Given the description of an element on the screen output the (x, y) to click on. 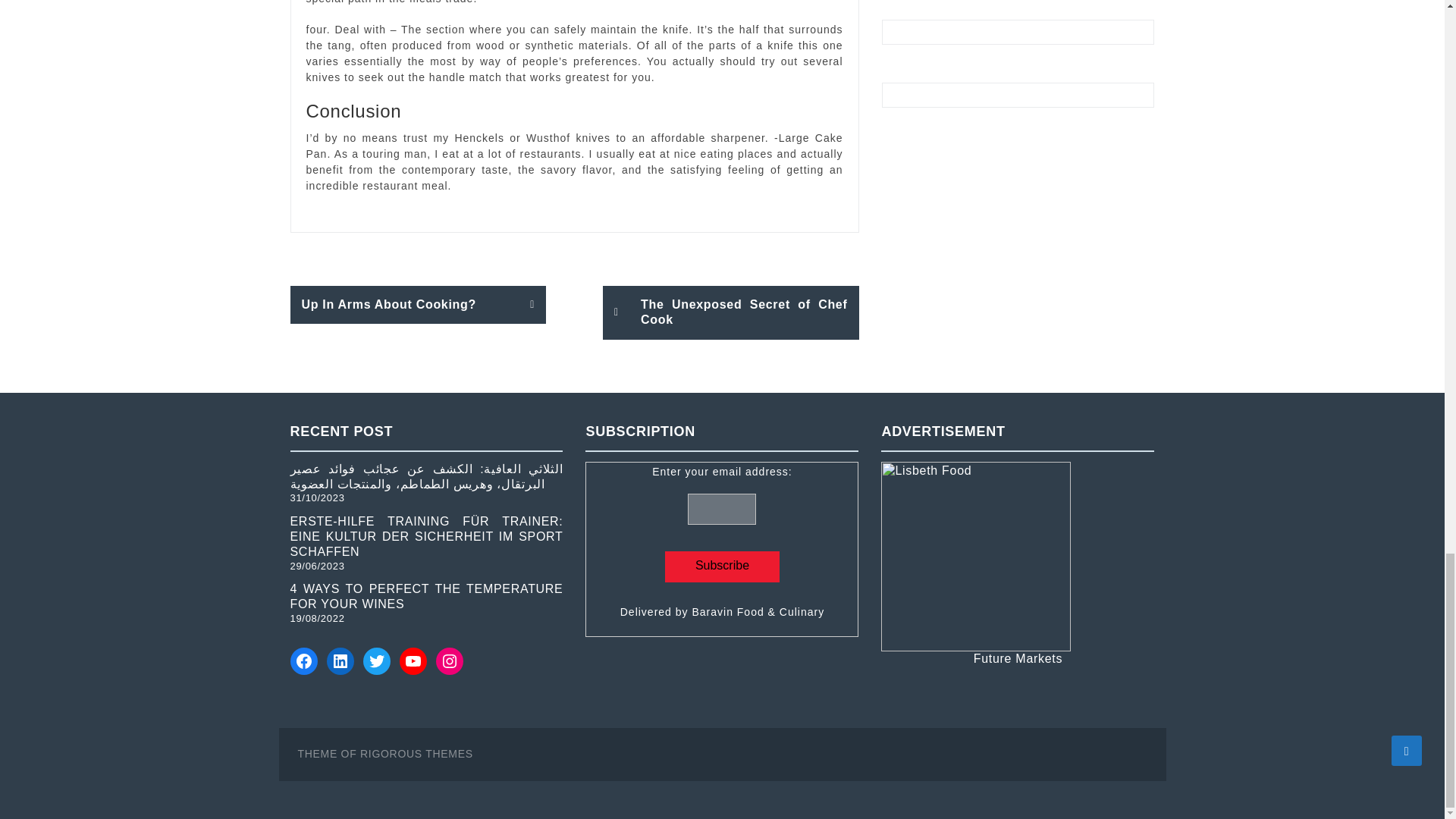
Lisbeth Food (975, 556)
The Unexposed Secret of Chef Cook (730, 312)
Up In Arms About Cooking? (417, 304)
Subscribe (721, 566)
